Given the description of an element on the screen output the (x, y) to click on. 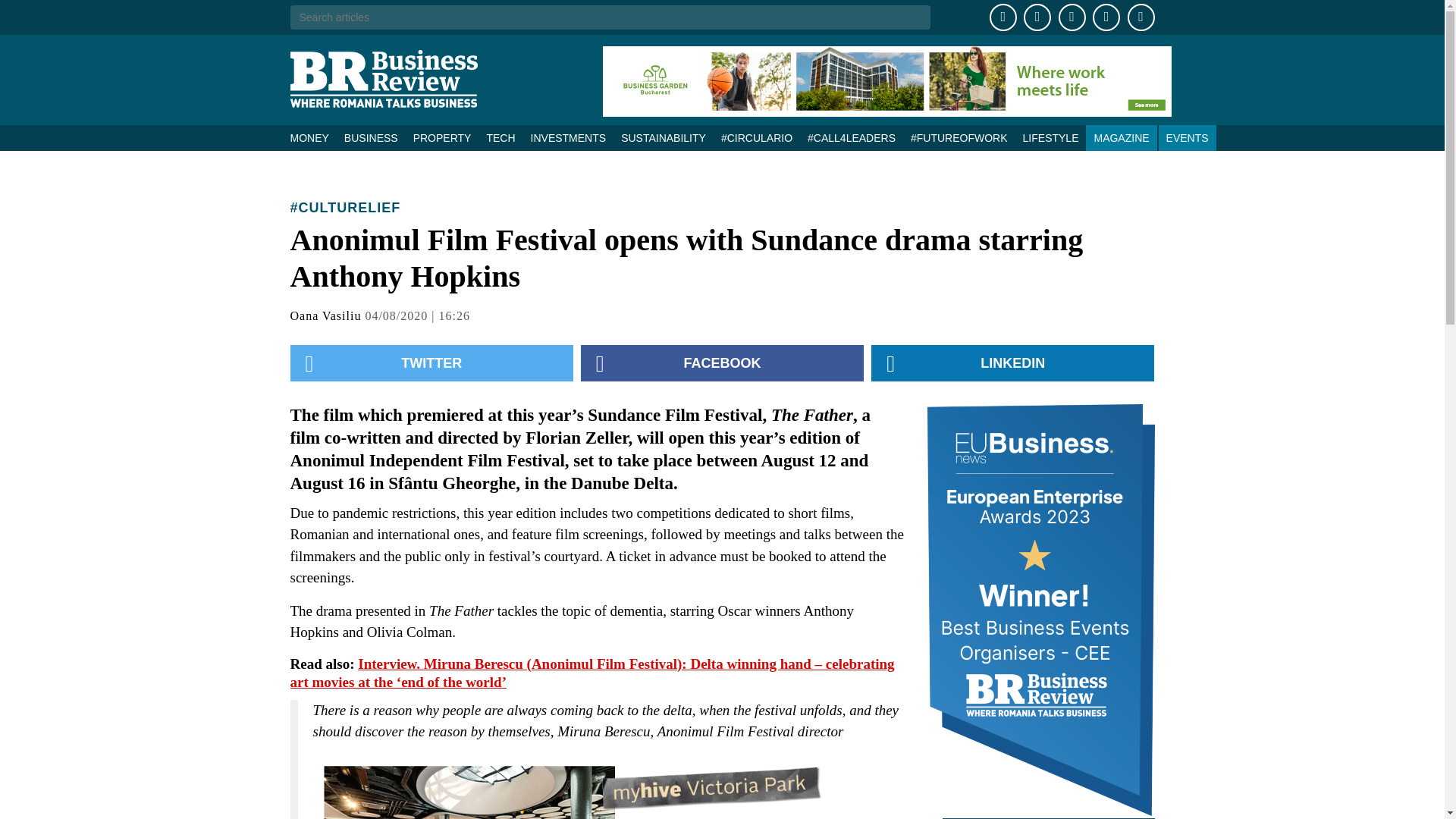
EVENTS (1186, 137)
INVESTMENTS (568, 137)
TECH (500, 137)
PROPERTY (442, 137)
SUSTAINABILITY (662, 137)
LINKEDIN (1012, 362)
BUSINESS (371, 137)
MAGAZINE (1121, 137)
LIFESTYLE (1050, 137)
Oana Vasiliu (325, 315)
